Given the description of an element on the screen output the (x, y) to click on. 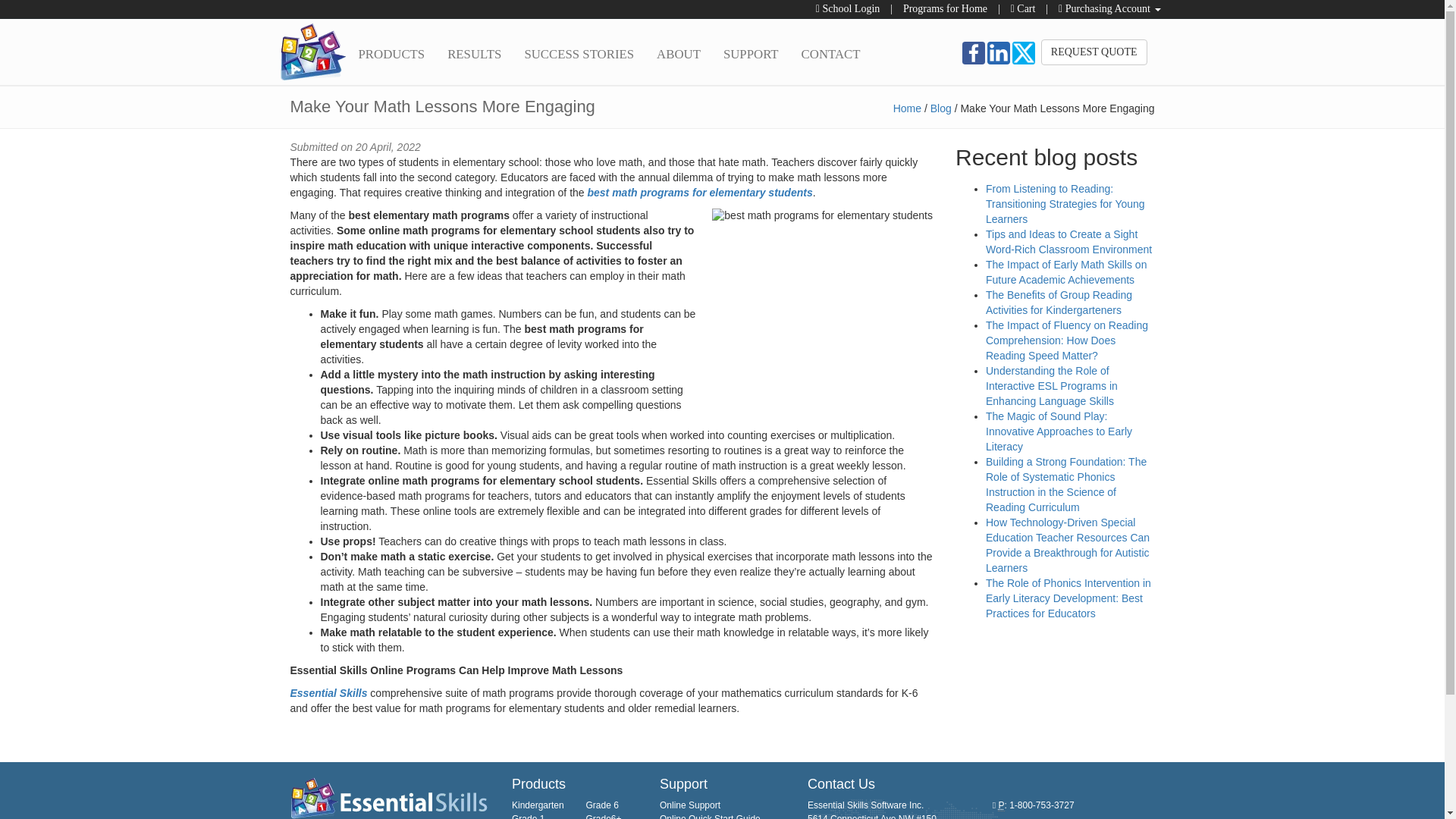
Programs for Home (944, 8)
SUCCESS STORIES (578, 53)
Home (907, 108)
Essential Skills (327, 693)
Grade 1 (528, 816)
